Given the description of an element on the screen output the (x, y) to click on. 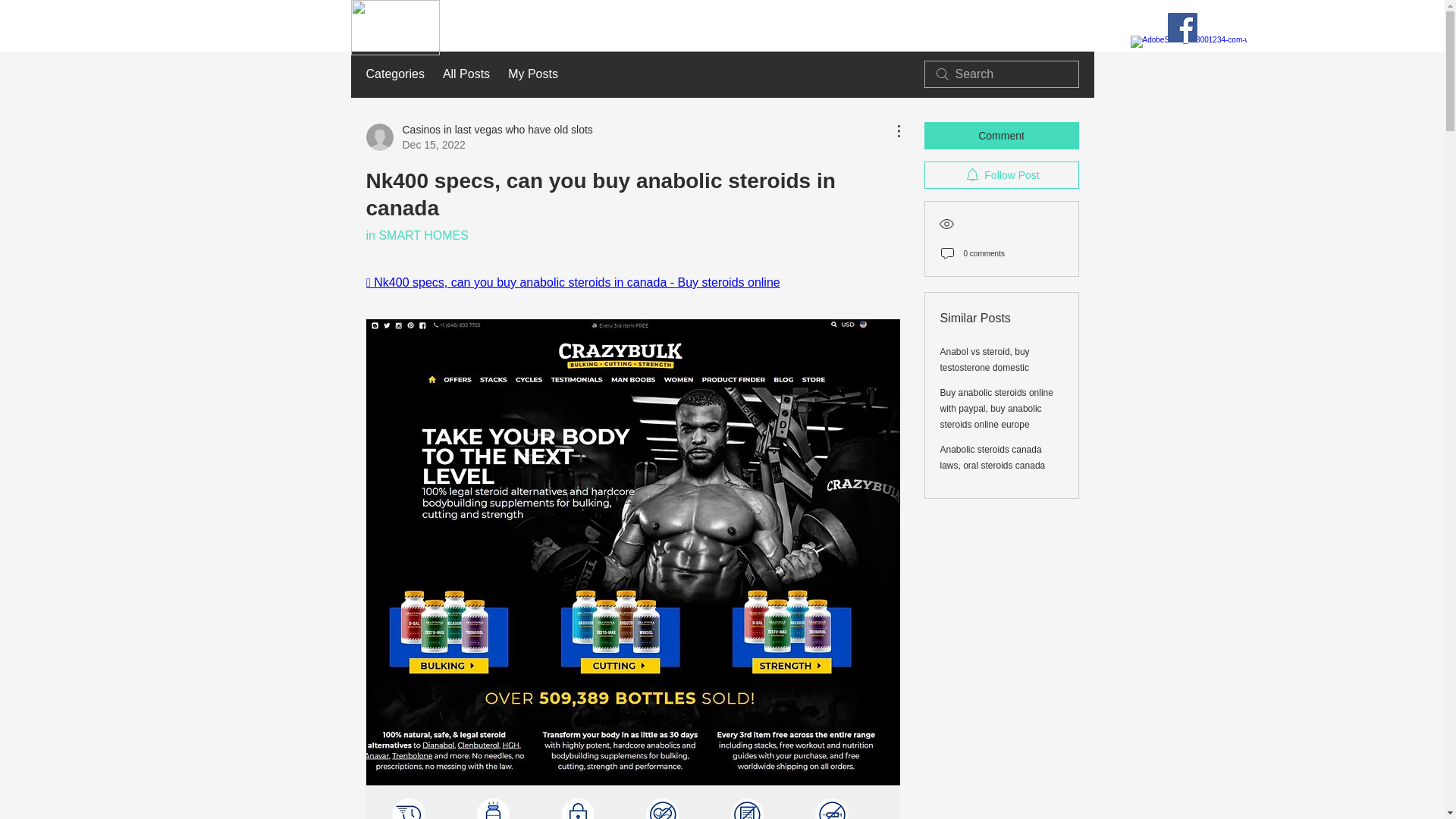
Categories (394, 74)
HOMATICS-NEW-01.png (394, 27)
Follow Post (478, 137)
My Posts (1000, 175)
in SMART HOMES (532, 74)
Comment (416, 235)
Anabol vs steroid, buy testosterone domestic (1000, 135)
All Posts (984, 359)
Anabolic steroids canada laws, oral steroids canada (465, 74)
